Given the description of an element on the screen output the (x, y) to click on. 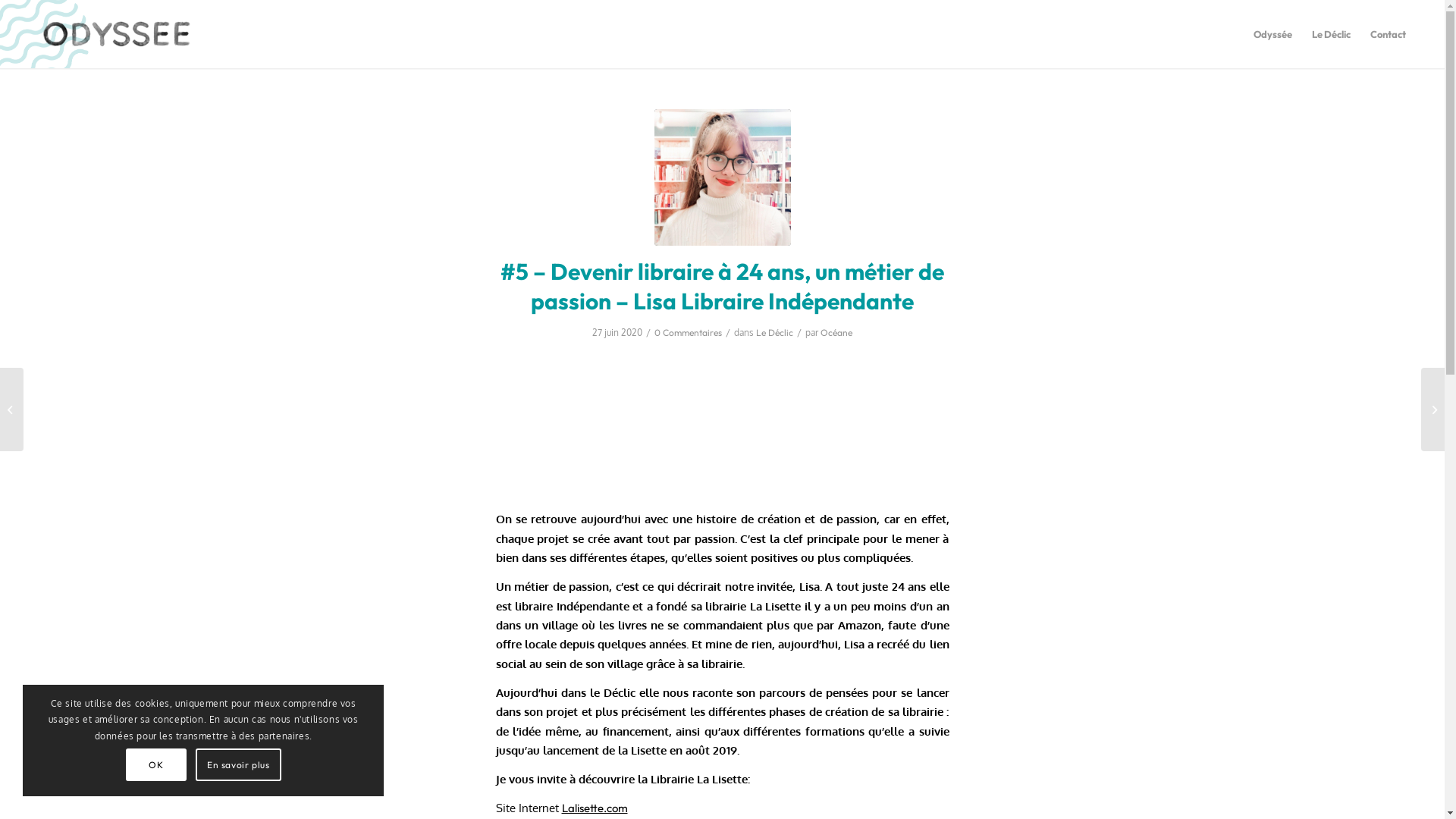
OK Element type: text (155, 764)
0 Commentaires Element type: text (687, 332)
Lalisette.com Element type: text (594, 807)
En savoir plus Element type: text (238, 764)
Contact Element type: text (1387, 34)
